Given the description of an element on the screen output the (x, y) to click on. 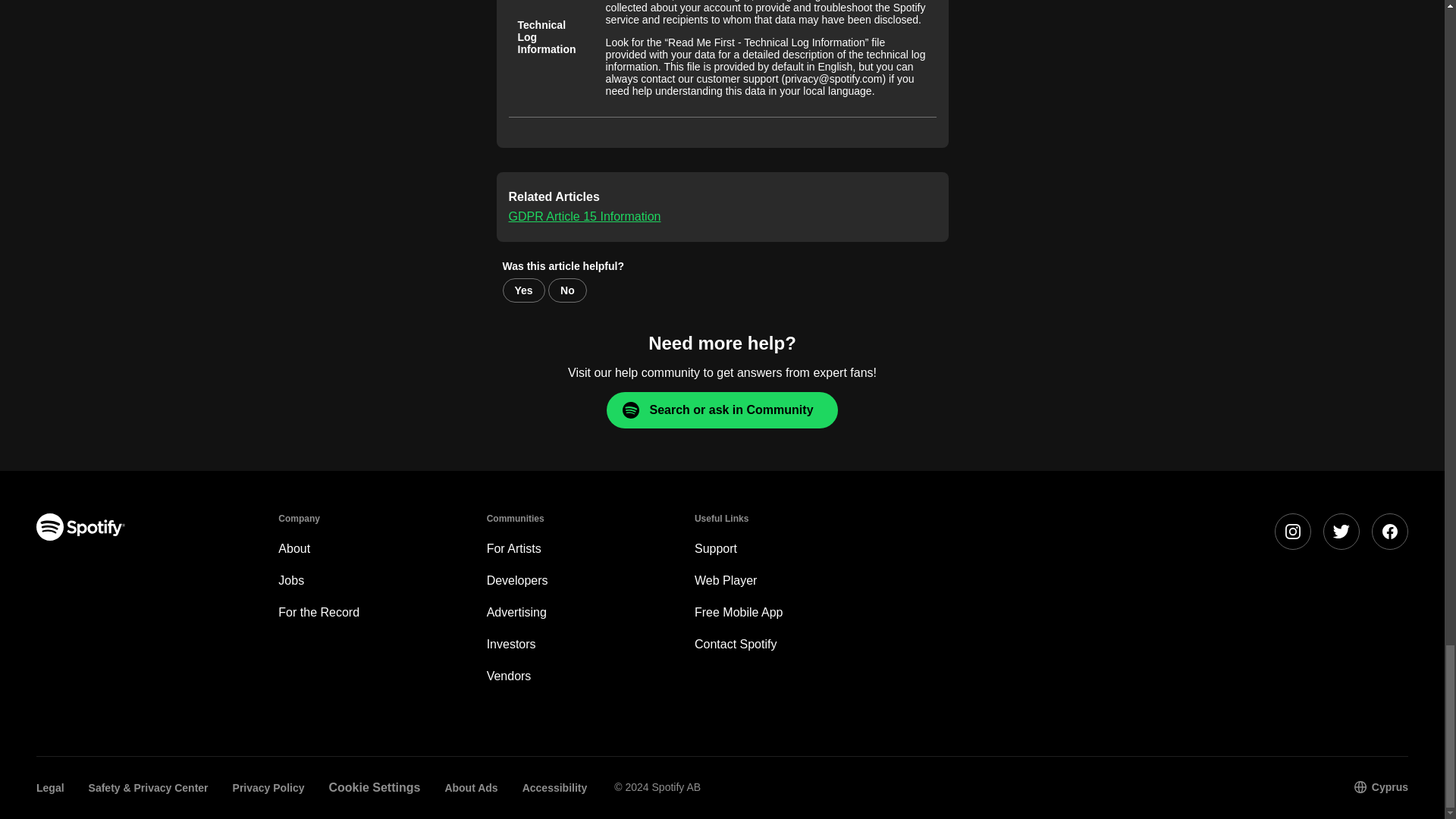
Support (715, 548)
Spotify (80, 526)
For Artists (513, 548)
Free Mobile App (738, 612)
Yes (523, 290)
Investors (510, 644)
For the Record (318, 612)
Developers (517, 580)
GDPR Article 15 Information (584, 215)
Contact Spotify (735, 644)
Web Player (725, 580)
Jobs (291, 580)
Spotify (138, 598)
Search or ask in Community (722, 410)
Vendors (508, 675)
